Given the description of an element on the screen output the (x, y) to click on. 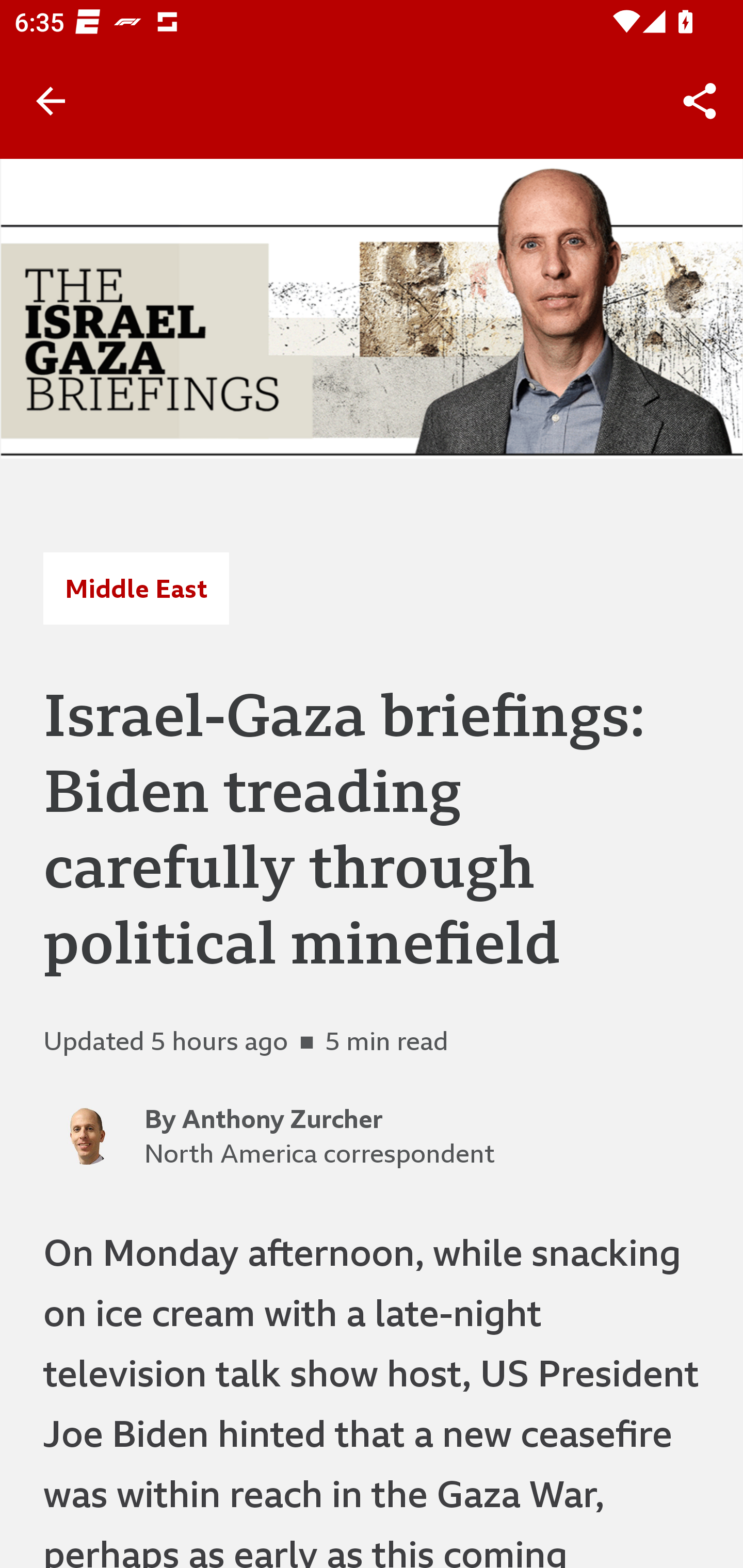
Back (50, 101)
Share (699, 101)
The Israel Gaza Briefings: Anthony Zurcher (371, 307)
Middle East (135, 588)
